Given the description of an element on the screen output the (x, y) to click on. 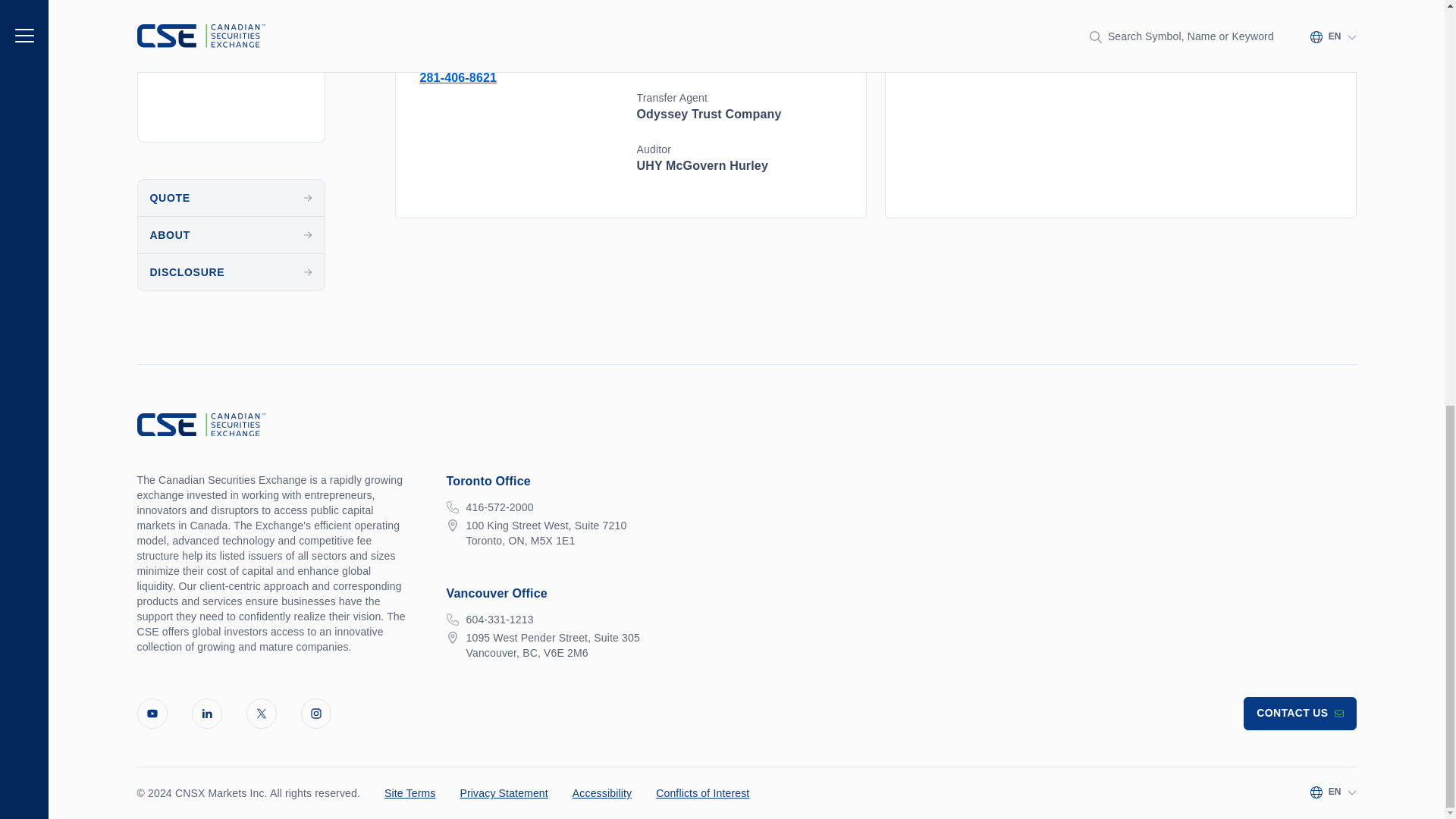
EN (1333, 791)
Accessibility (601, 793)
Site Terms (409, 793)
281-406-8621 (458, 77)
CONTACT US (1299, 713)
Conflicts of Interest (702, 793)
Privacy Statement (504, 793)
